Given the description of an element on the screen output the (x, y) to click on. 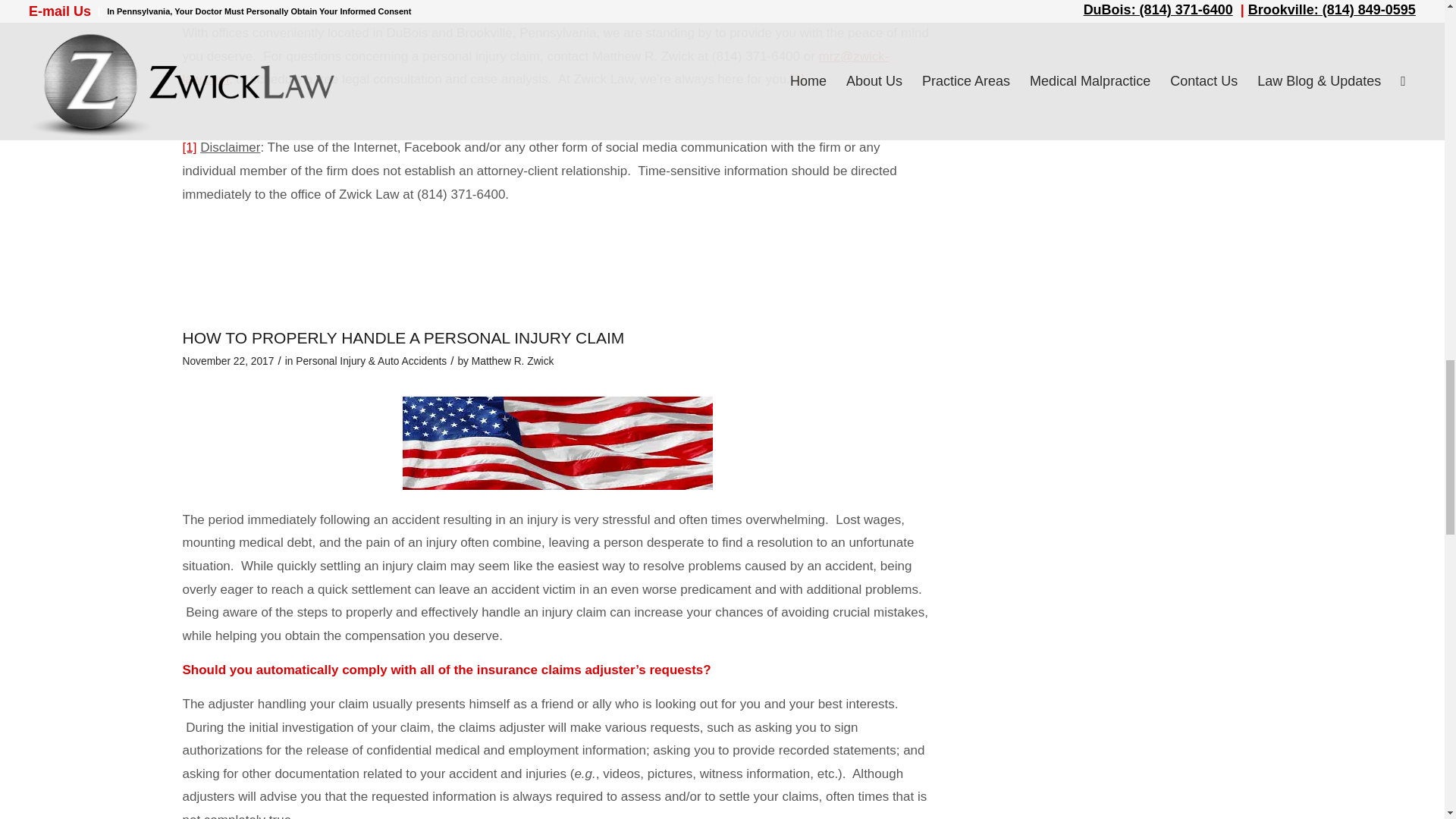
HOW TO PROPERLY HANDLE A PERSONAL INJURY CLAIM (403, 337)
Posts by Matthew R. Zwick (512, 360)
Matthew R. Zwick (512, 360)
